Given the description of an element on the screen output the (x, y) to click on. 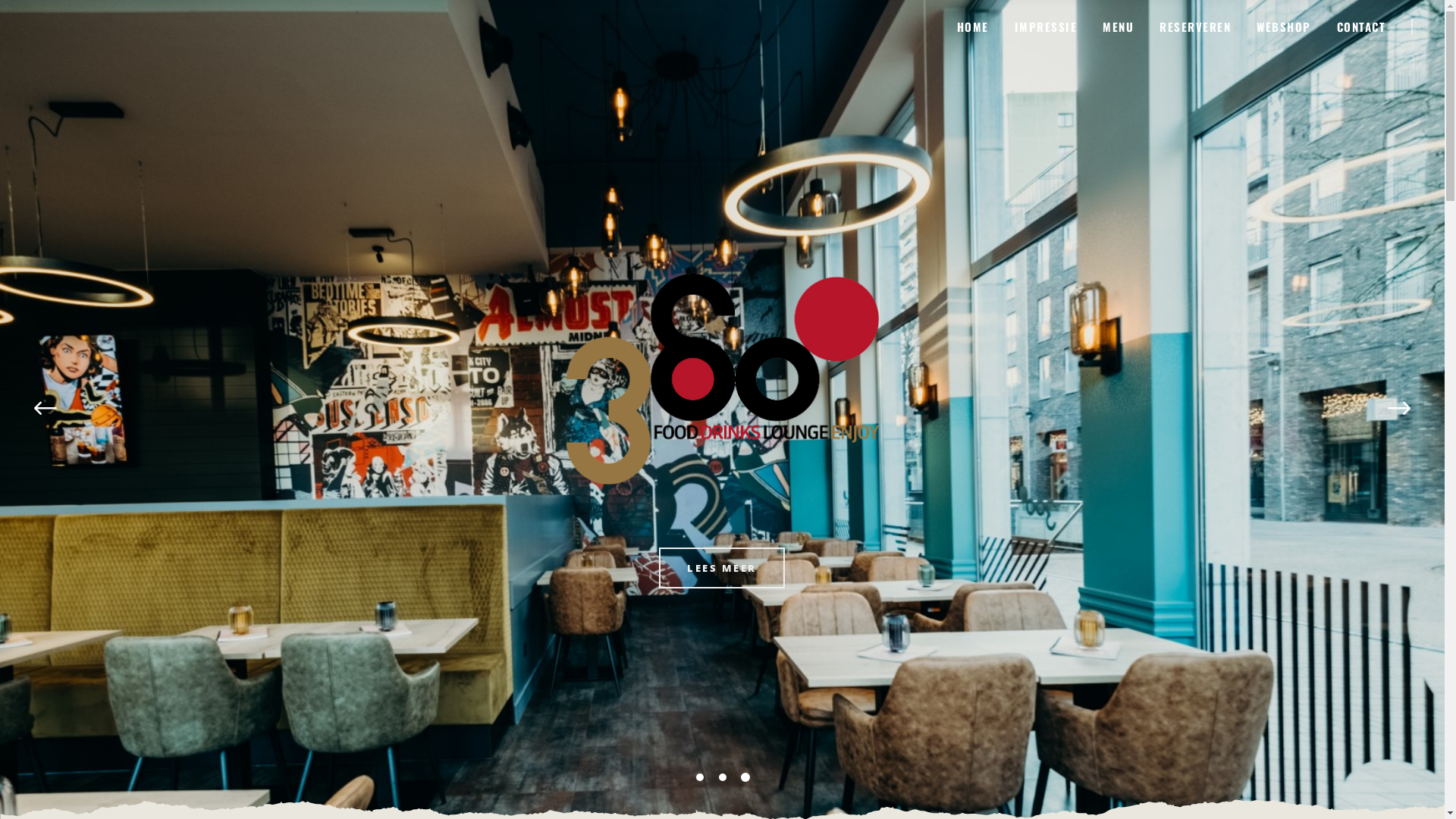
MENU Element type: text (1117, 26)
CONTACT Element type: text (1375, 26)
WEBSHOP Element type: text (1283, 26)
IMPRESSIE Element type: text (1045, 26)
HOME Element type: text (972, 26)
RESERVEREN Element type: text (1194, 26)
LEES MEER Element type: text (721, 531)
